Given the description of an element on the screen output the (x, y) to click on. 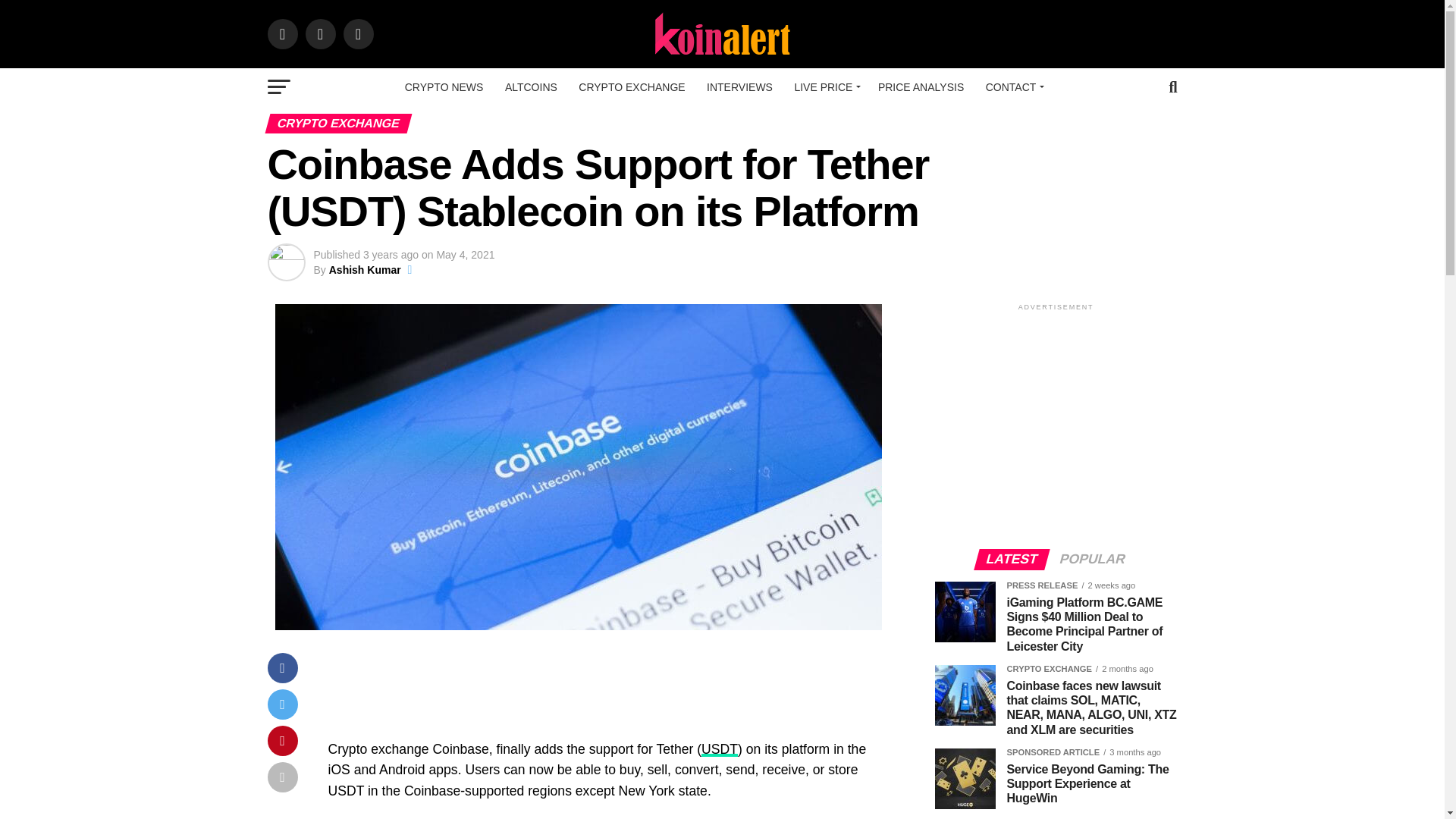
Advertisement (603, 693)
CRYPTO NEWS (444, 86)
ALTCOINS (531, 86)
Advertisement (1061, 419)
Posts by Ashish Kumar (365, 269)
